Given the description of an element on the screen output the (x, y) to click on. 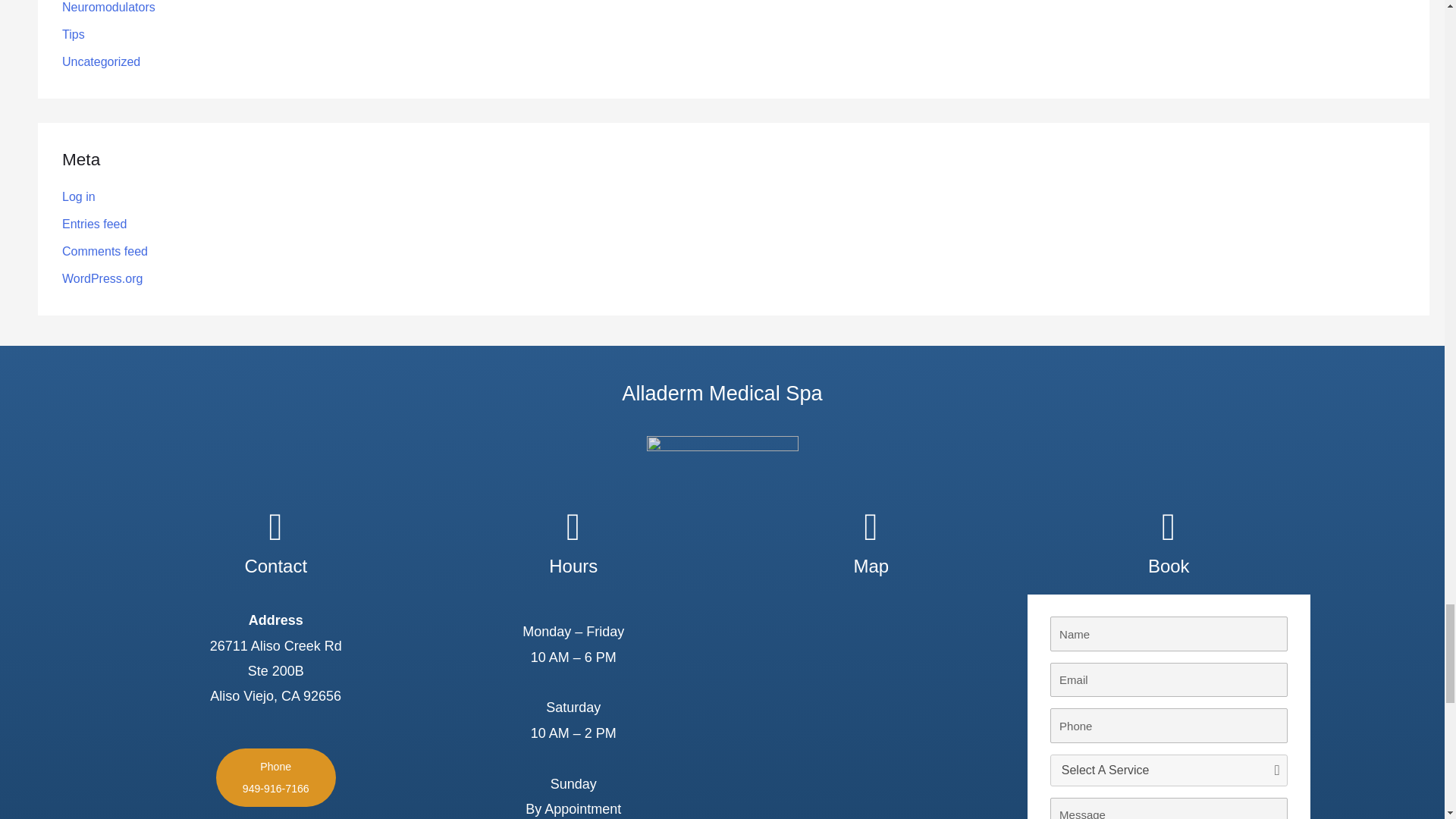
Alladerm (870, 706)
